Given the description of an element on the screen output the (x, y) to click on. 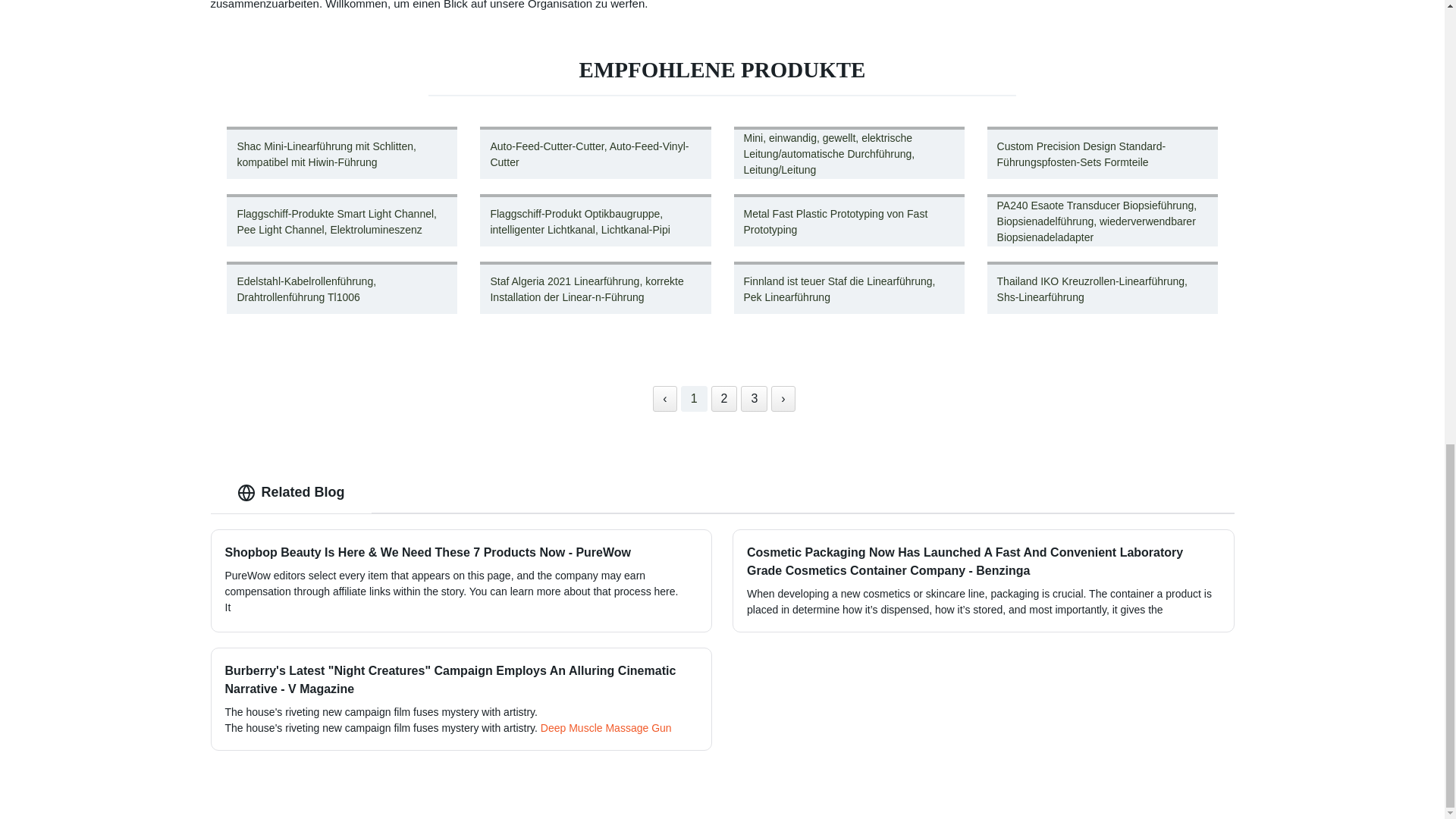
Auto-Feed-Cutter-Cutter, Auto-Feed-Vinyl-Cutter (595, 152)
Metal Fast Plastic Prototyping von Fast Prototyping (848, 219)
